Given the description of an element on the screen output the (x, y) to click on. 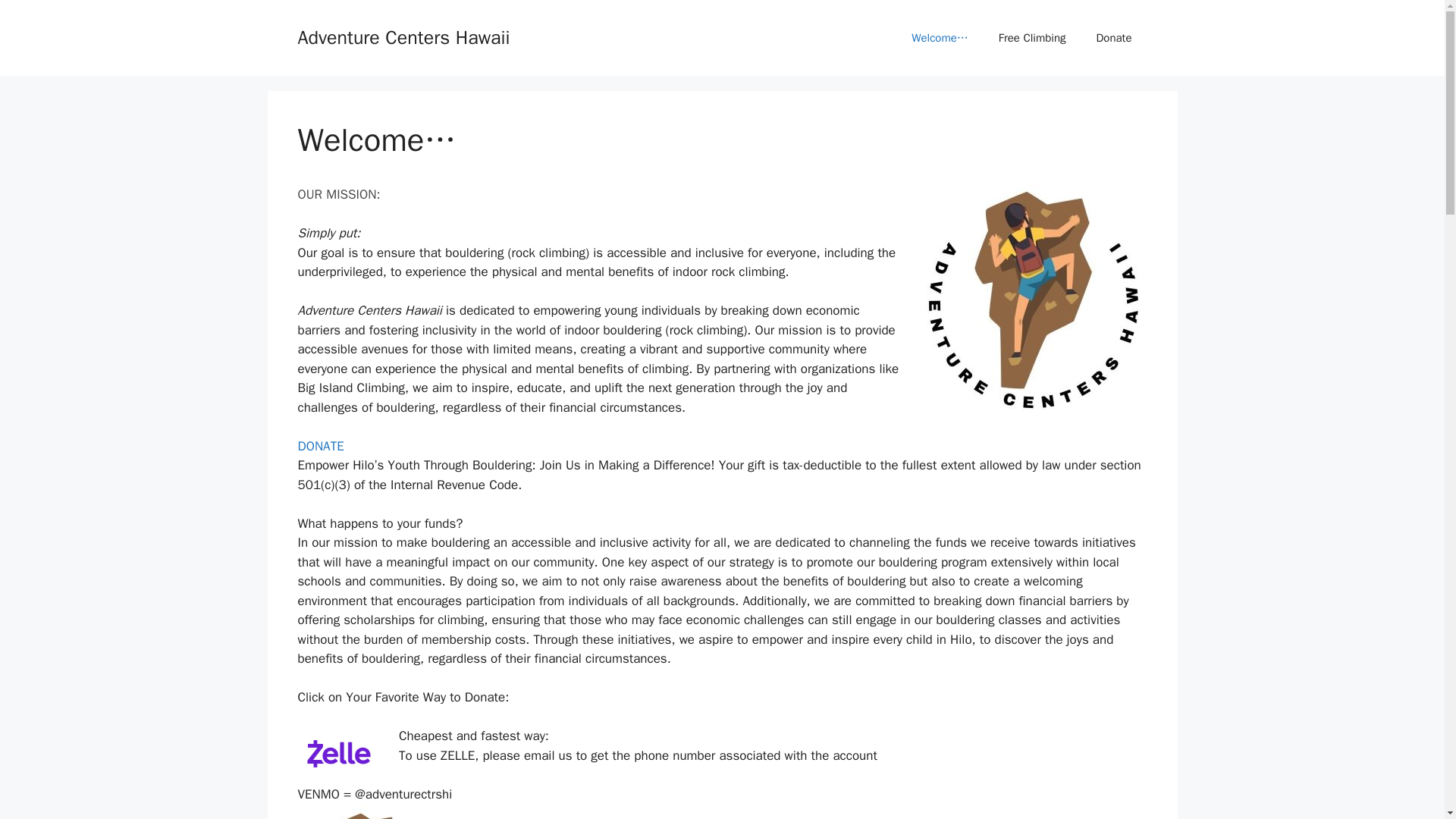
Adventure Centers Hawaii (403, 37)
Donate (1113, 37)
Free Climbing (1032, 37)
DONATE (320, 446)
